Given the description of an element on the screen output the (x, y) to click on. 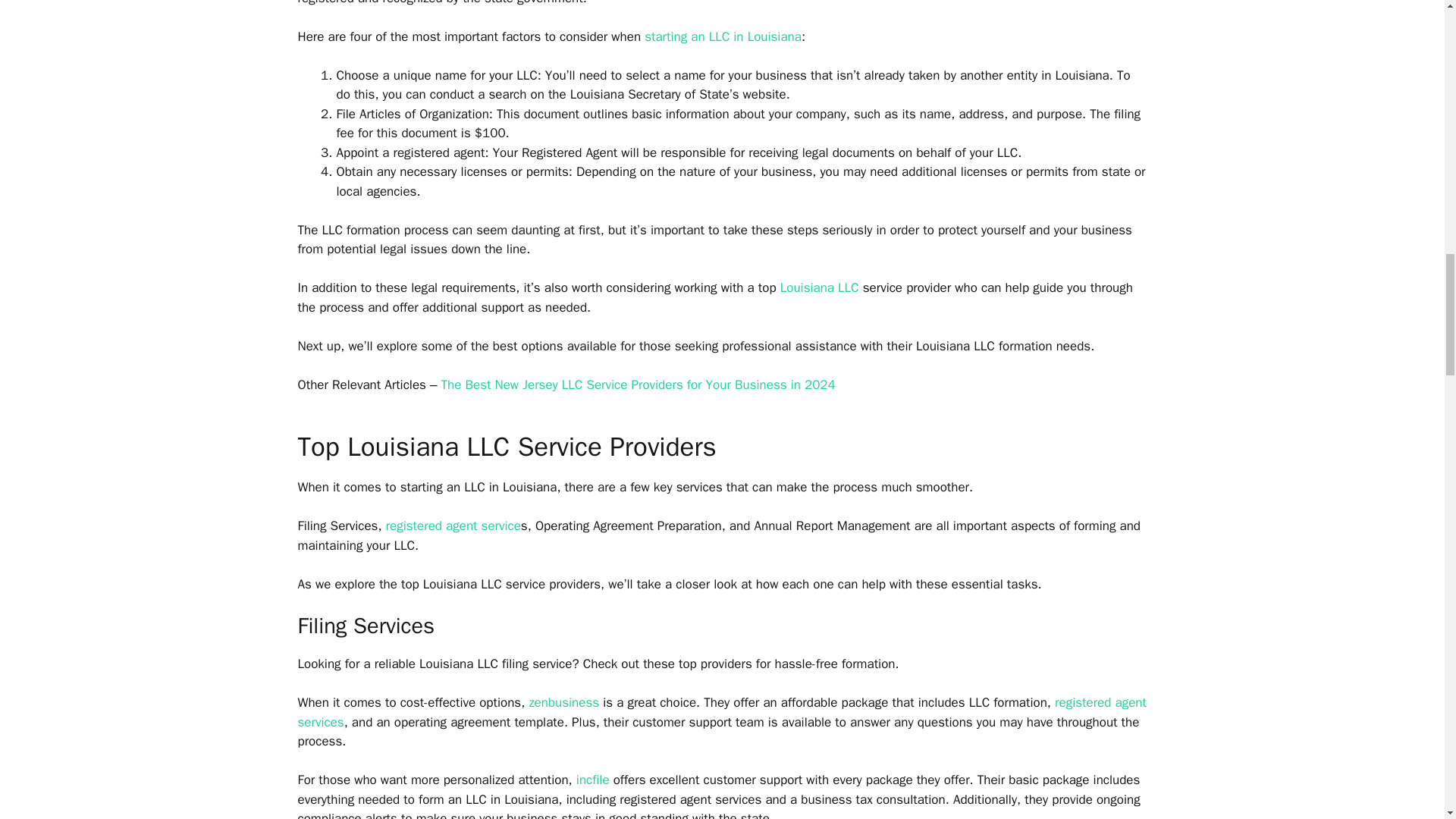
ZenBusiness Review: Get the Best of LLC Formation Services (563, 702)
Louisiana LLC (819, 287)
zenbusiness (563, 702)
incfile (593, 779)
starting an LLC in Louisiana (723, 36)
registered agent services (721, 712)
